Given the description of an element on the screen output the (x, y) to click on. 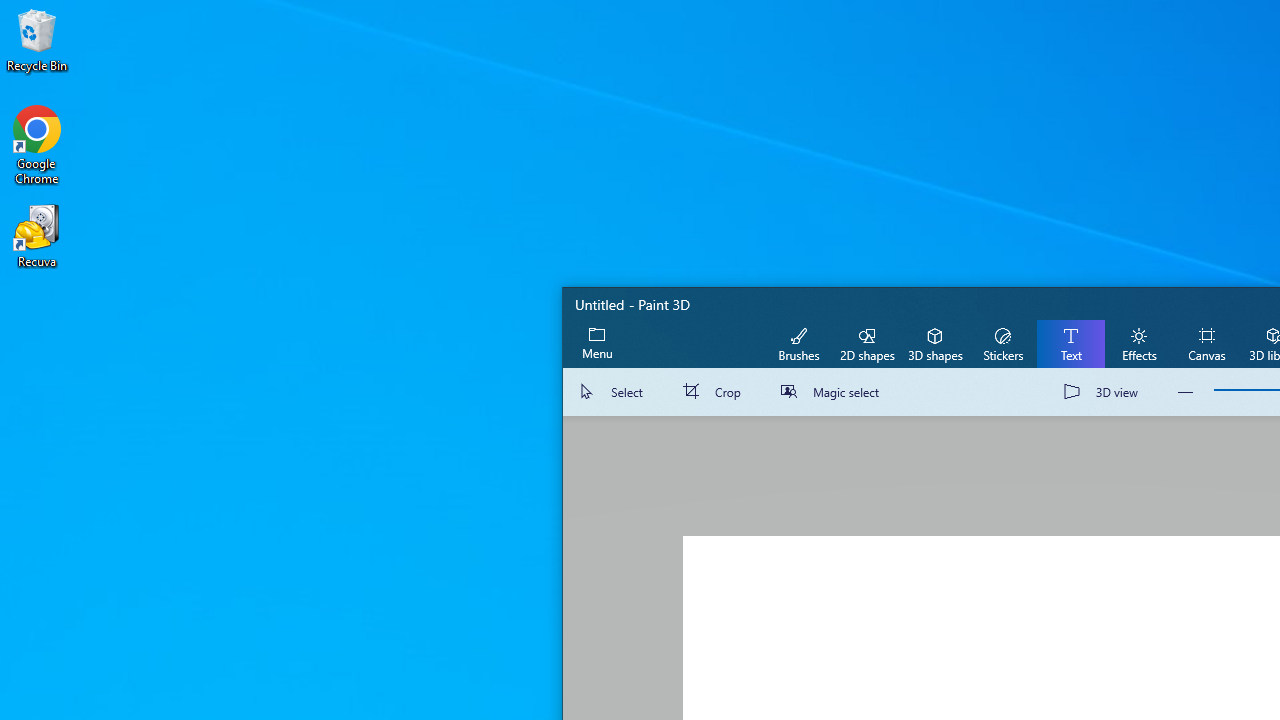
3D view (1105, 391)
Canvas (1206, 343)
3D shapes (934, 343)
Stickers (1002, 343)
2D shapes (867, 343)
Text (1070, 343)
Select (614, 391)
Crop (715, 391)
Effects (1138, 343)
Zoom out (1185, 391)
Expand menu (597, 343)
Brushes (799, 343)
Magic select (833, 391)
